Given the description of an element on the screen output the (x, y) to click on. 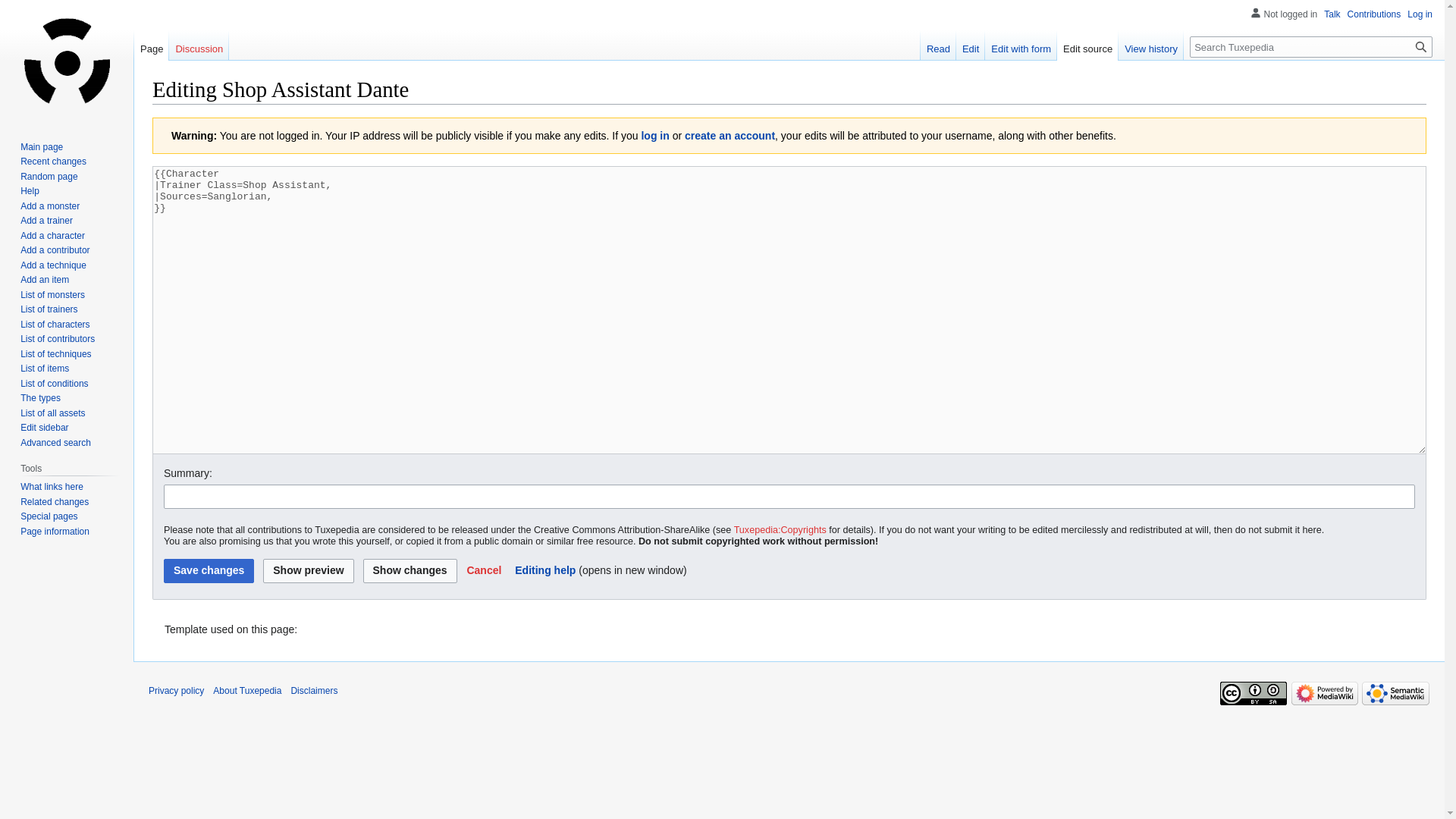
Talk (1331, 14)
List of monsters (52, 294)
Help (29, 190)
Show preview (308, 570)
Discussion (198, 45)
Go (1420, 46)
Contributions (1374, 14)
Show changes (409, 570)
Search (1420, 46)
Add a trainer (46, 220)
Random page (48, 176)
Save changes (208, 570)
Add a technique (52, 265)
Editing help (545, 570)
Add a monster (50, 205)
